Given the description of an element on the screen output the (x, y) to click on. 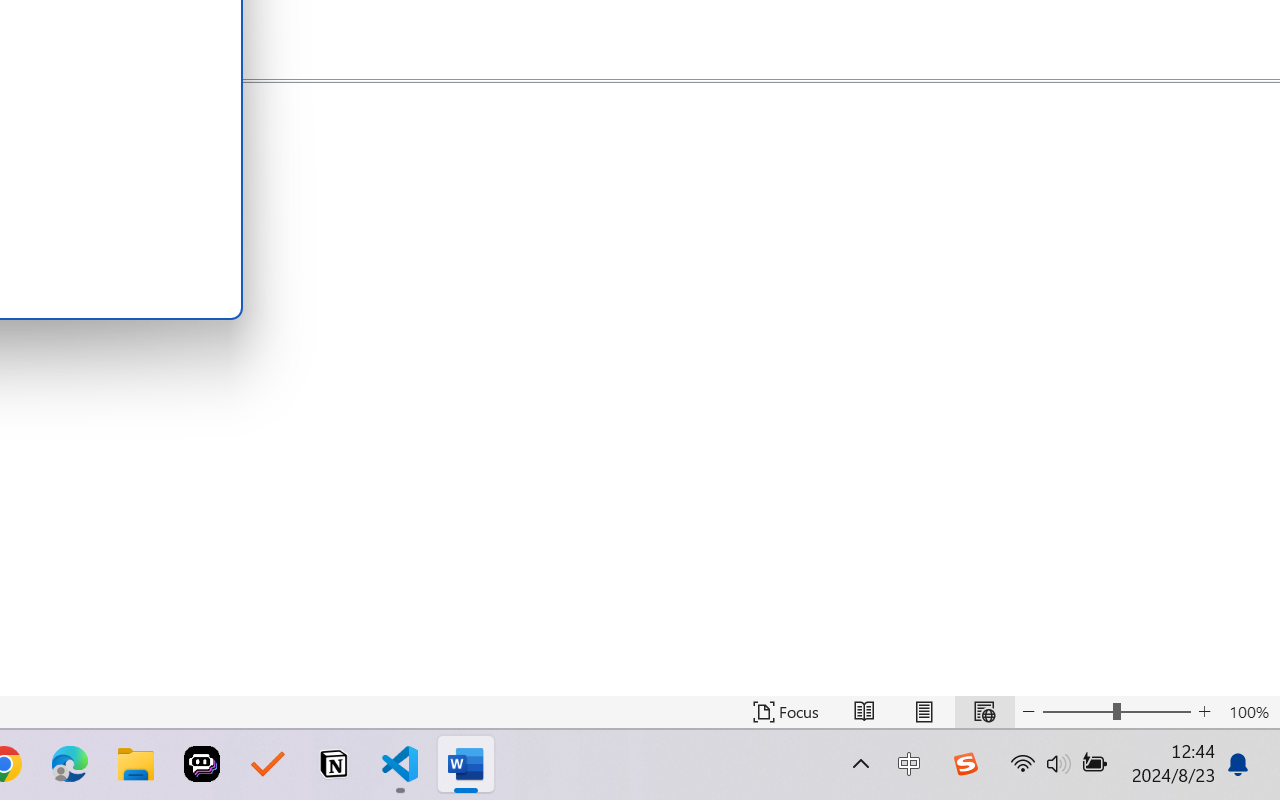
Zoom 100% (1249, 712)
Microsoft Edge (69, 764)
